Given the description of an element on the screen output the (x, y) to click on. 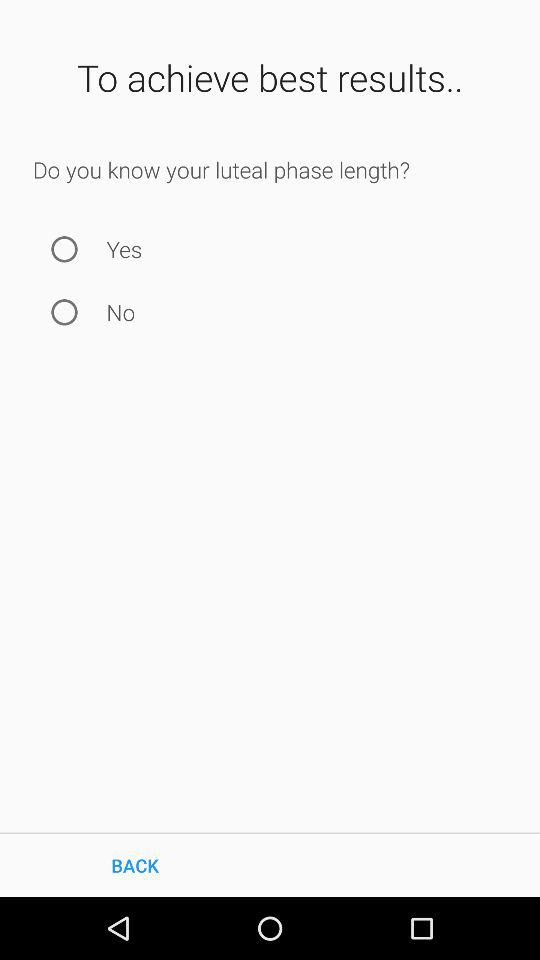
press item to the left of the no item (64, 311)
